Given the description of an element on the screen output the (x, y) to click on. 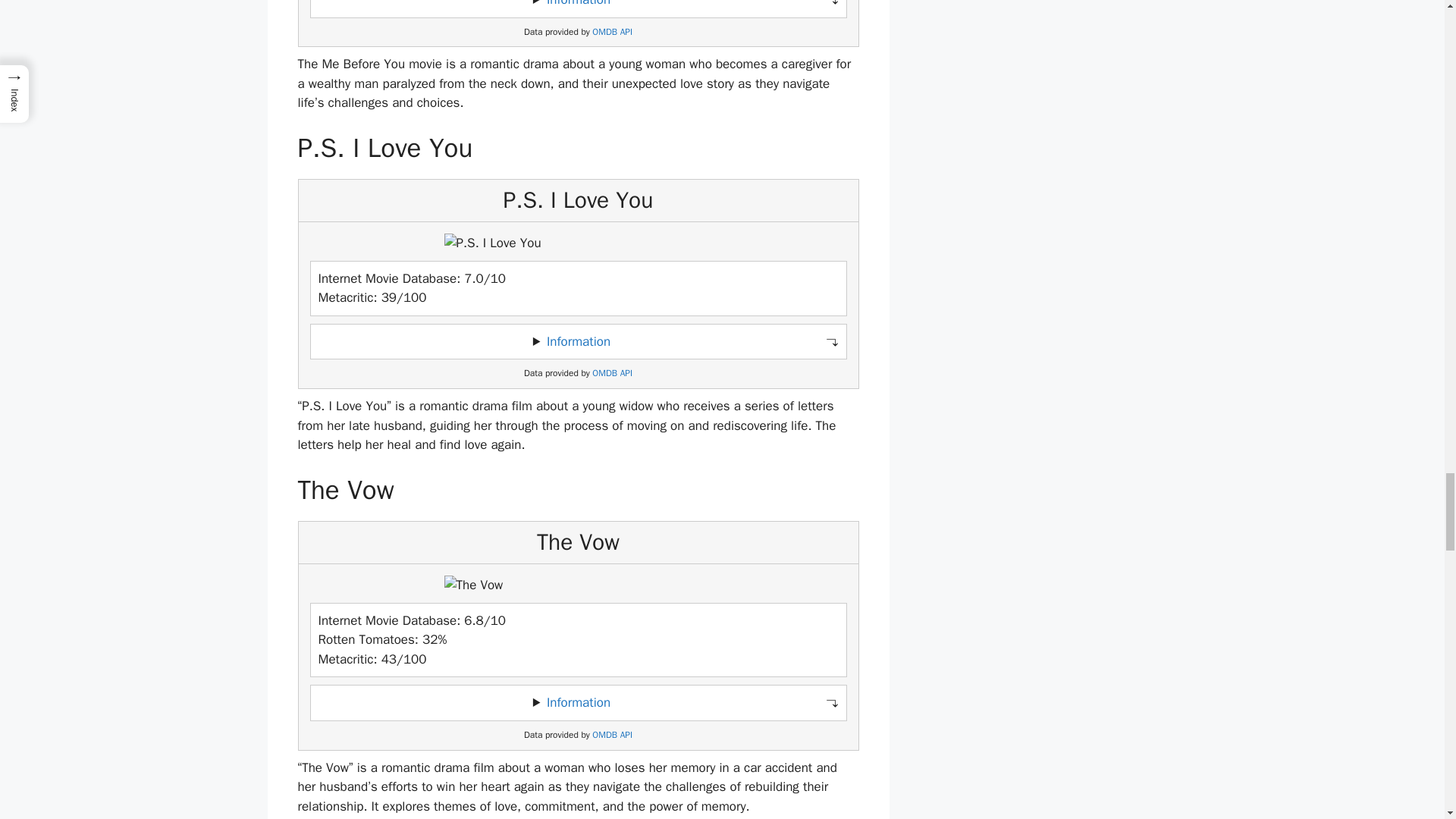
OMDB API (611, 31)
OMDB API (611, 735)
Information (578, 341)
Information (578, 702)
Information (578, 3)
OMDB API (611, 373)
